Given the description of an element on the screen output the (x, y) to click on. 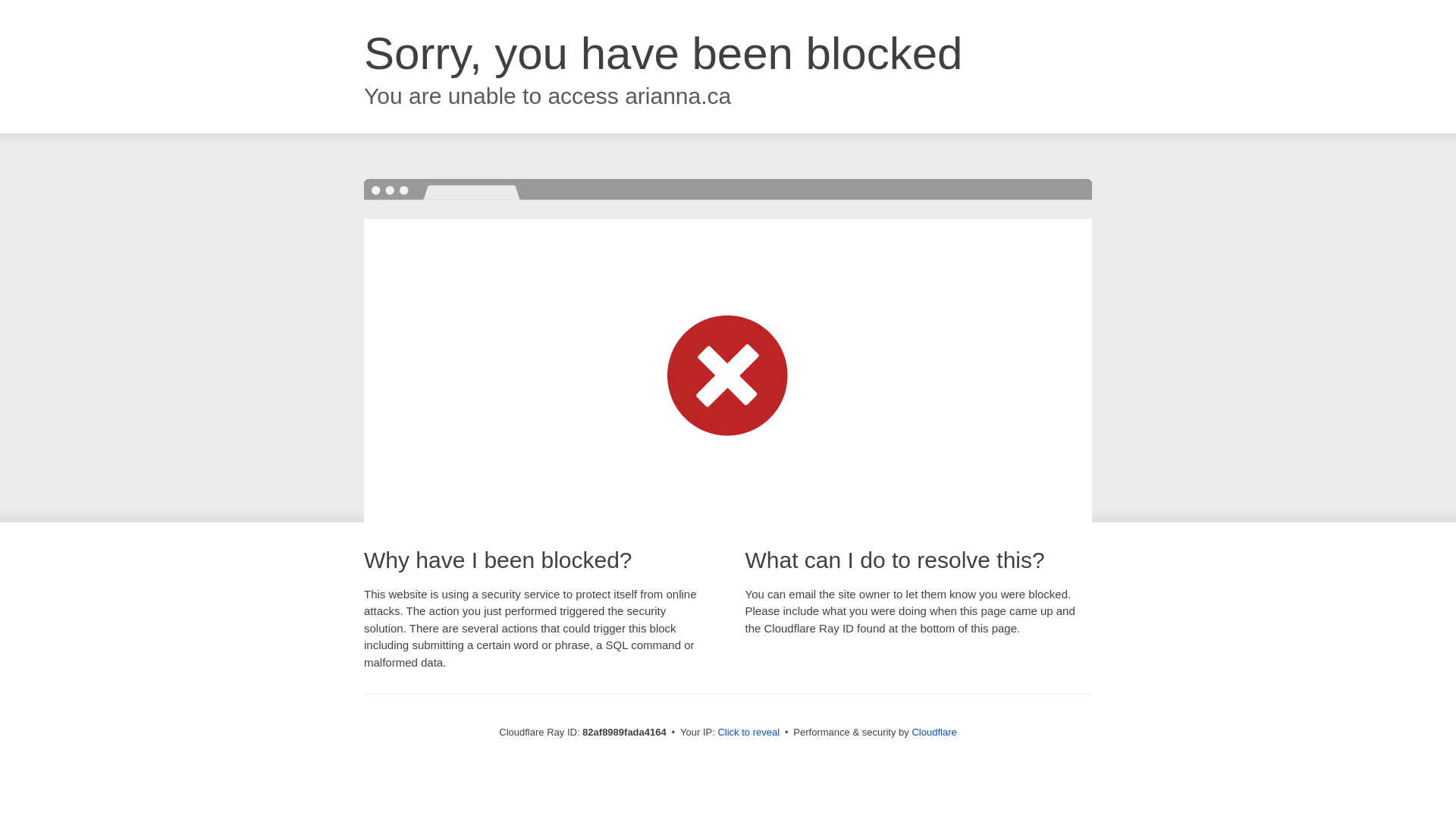
Click to reveal Element type: text (748, 732)
Cloudflare Element type: text (933, 731)
